Given the description of an element on the screen output the (x, y) to click on. 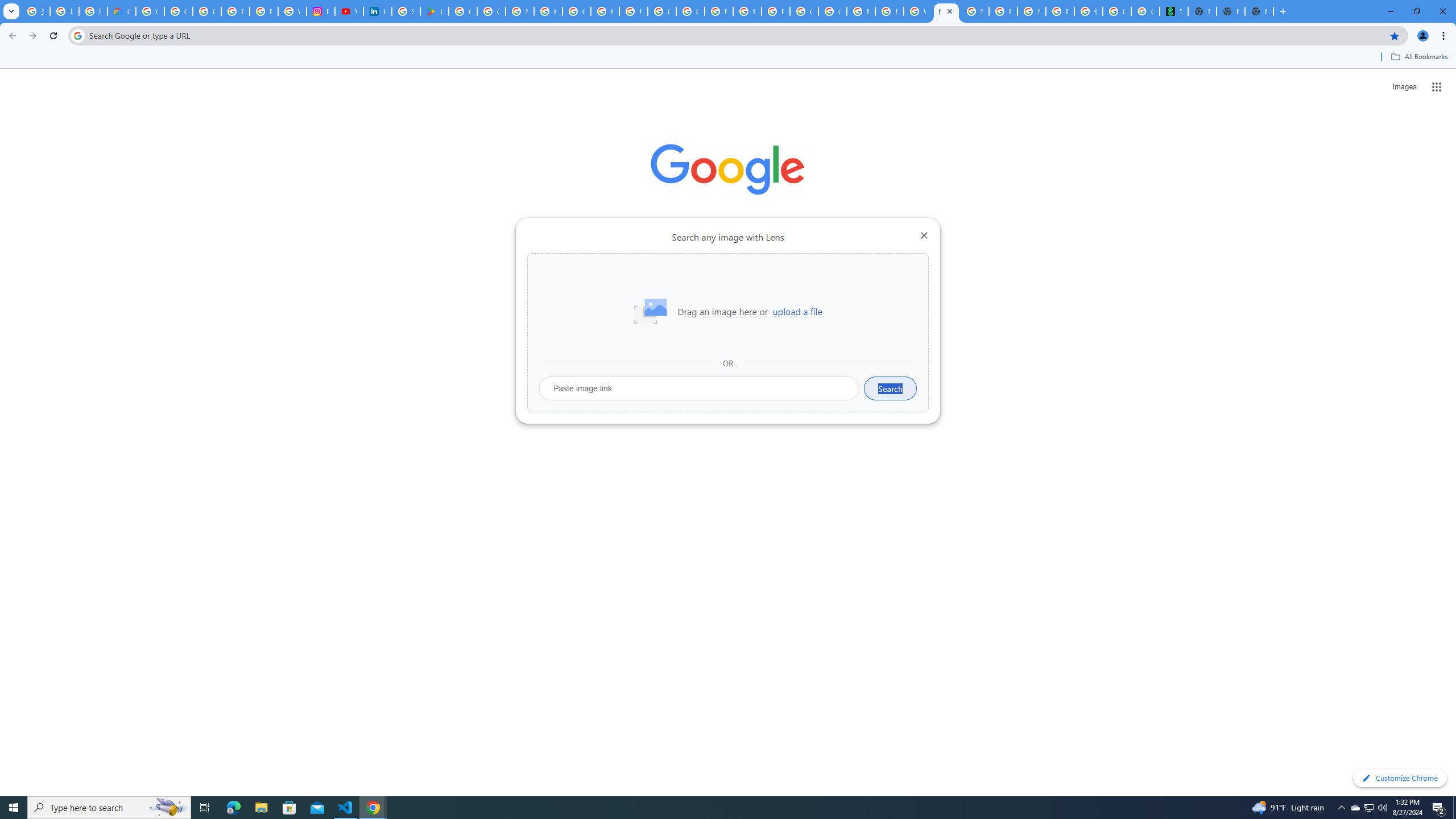
New Tab (946, 11)
upload a file (796, 311)
All Bookmarks (1418, 56)
New Tab (1259, 11)
Customize Chrome (1399, 778)
Search for Images  (1403, 87)
Paste image link (699, 388)
